Given the description of an element on the screen output the (x, y) to click on. 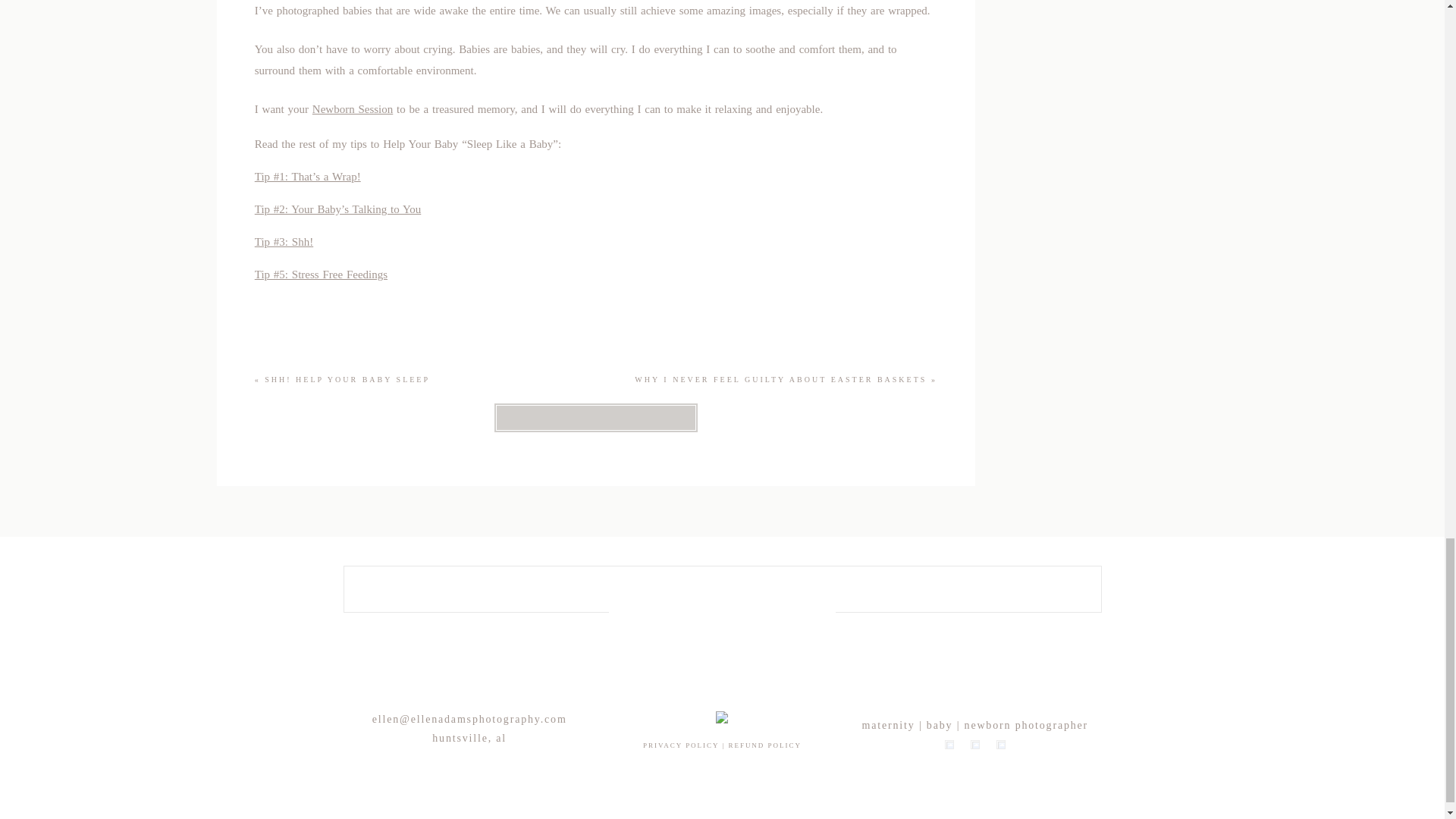
Newborn Session (353, 109)
PRIVACY POLICY (681, 745)
WHY I NEVER FEEL GUILTY ABOUT EASTER BASKETS (780, 379)
REFUND POLICY (765, 745)
SHH! HELP YOUR BABY SLEEP (346, 379)
